Given the description of an element on the screen output the (x, y) to click on. 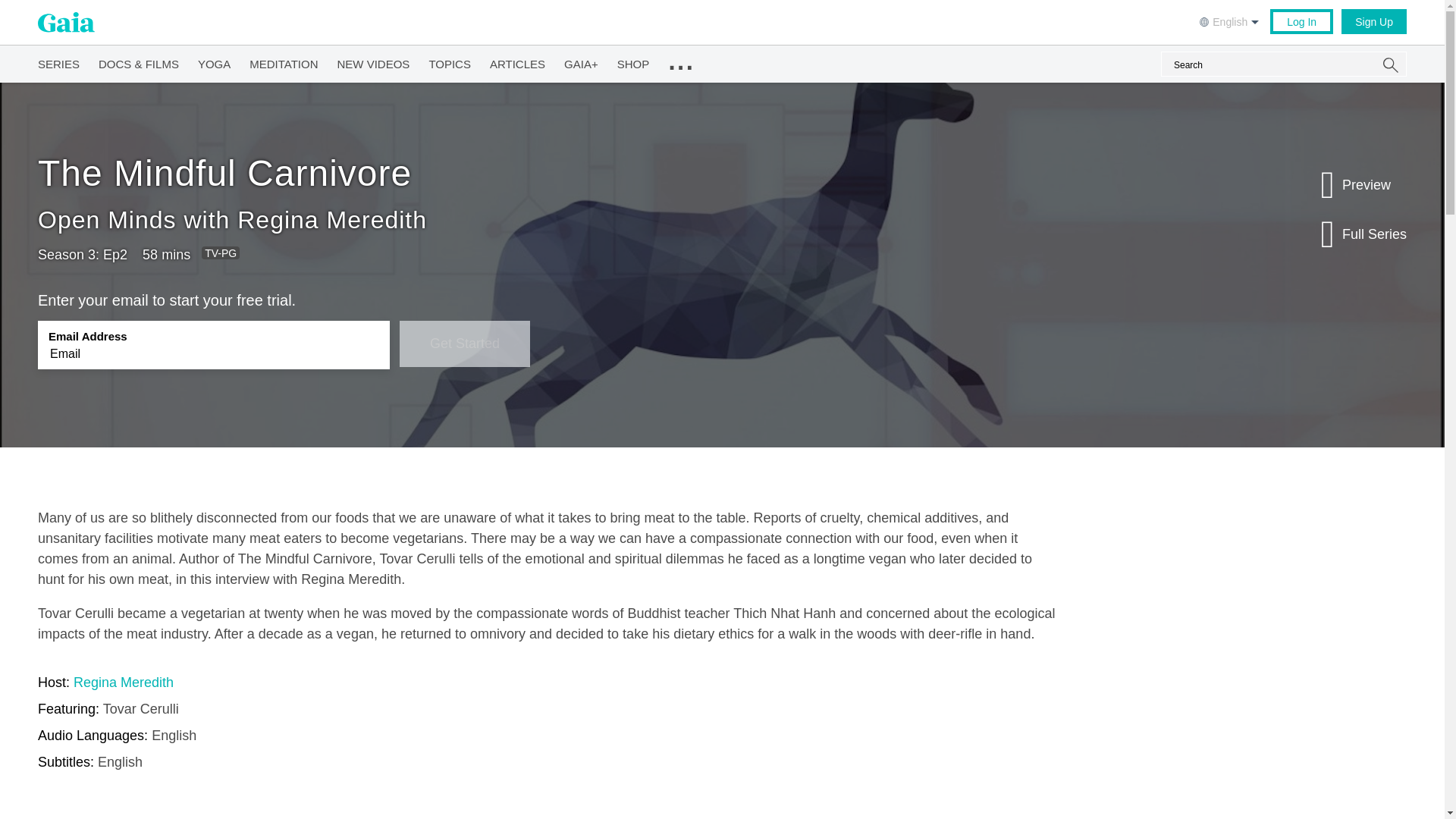
Log In (1301, 21)
SHOP (633, 61)
NEW VIDEOS (373, 61)
SERIES (58, 61)
MEDITATION (282, 61)
YOGA (214, 61)
Sign Up (1373, 21)
ARTICLES (516, 61)
English (1230, 20)
TOPICS (449, 61)
